Given the description of an element on the screen output the (x, y) to click on. 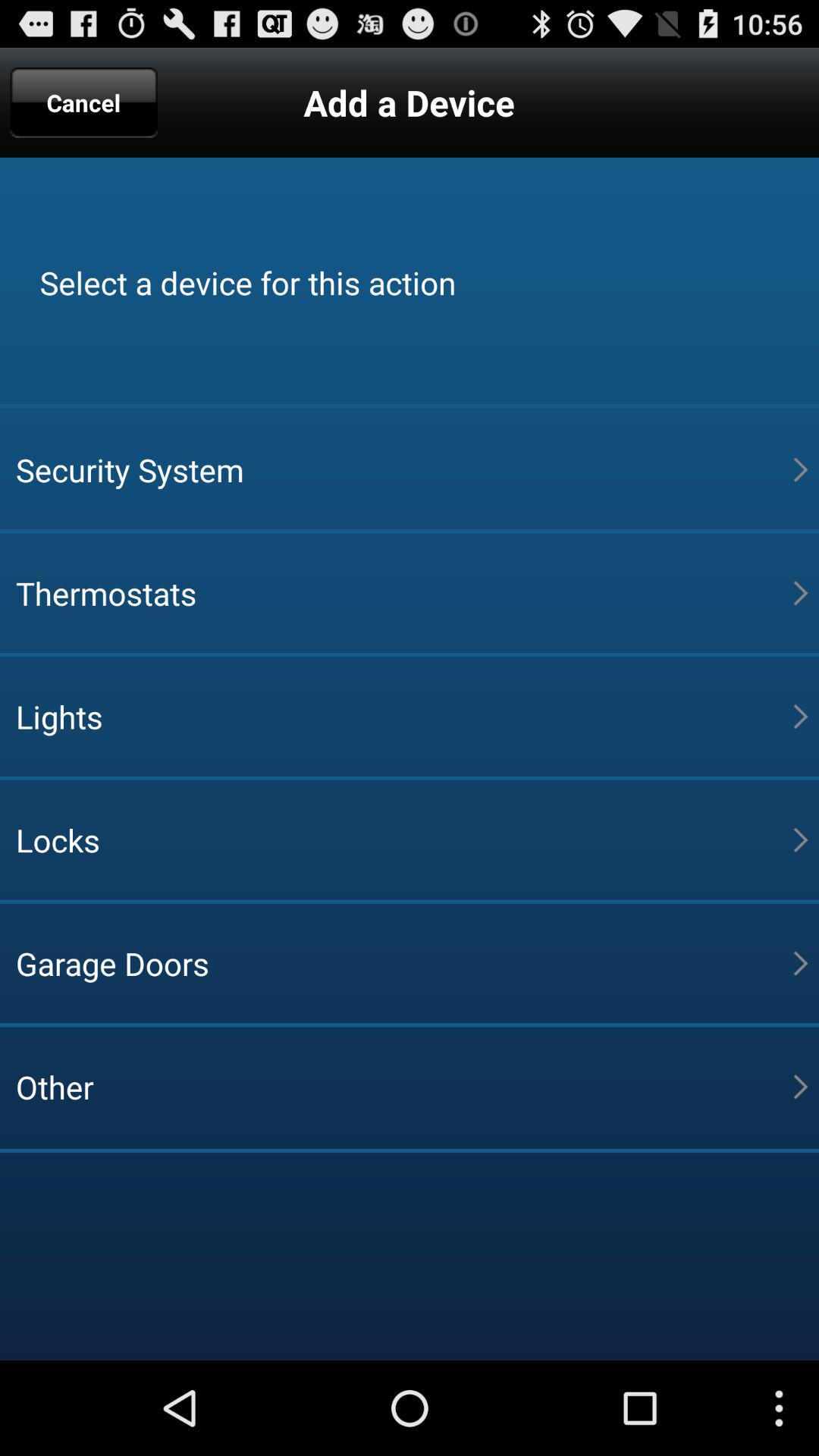
turn off the item above the locks app (403, 716)
